Given the description of an element on the screen output the (x, y) to click on. 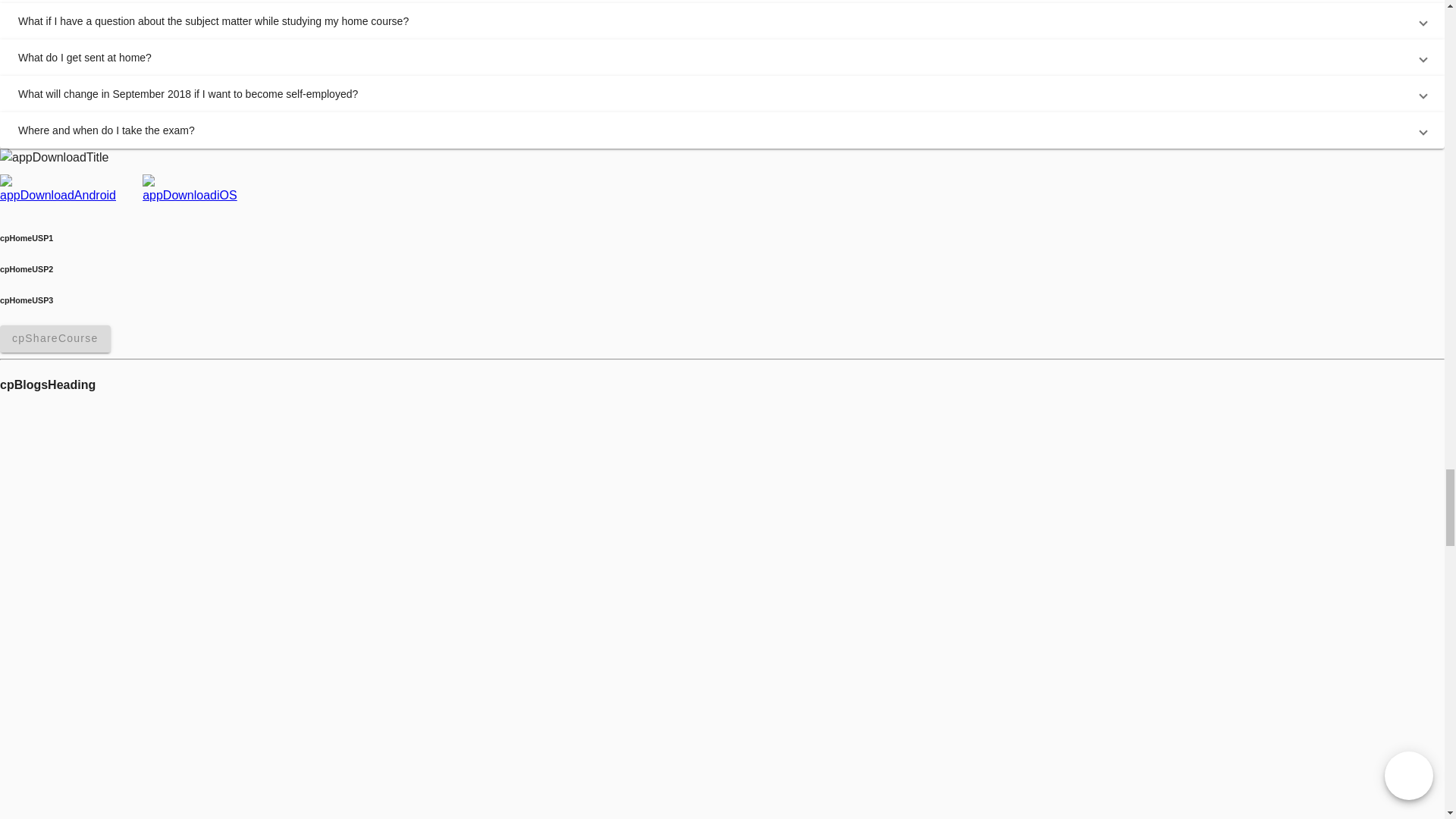
appDownloadiOS (191, 189)
appDownloadAndroid (64, 189)
appDownloadTitle (53, 157)
appDownloadiOS (191, 189)
